Given the description of an element on the screen output the (x, y) to click on. 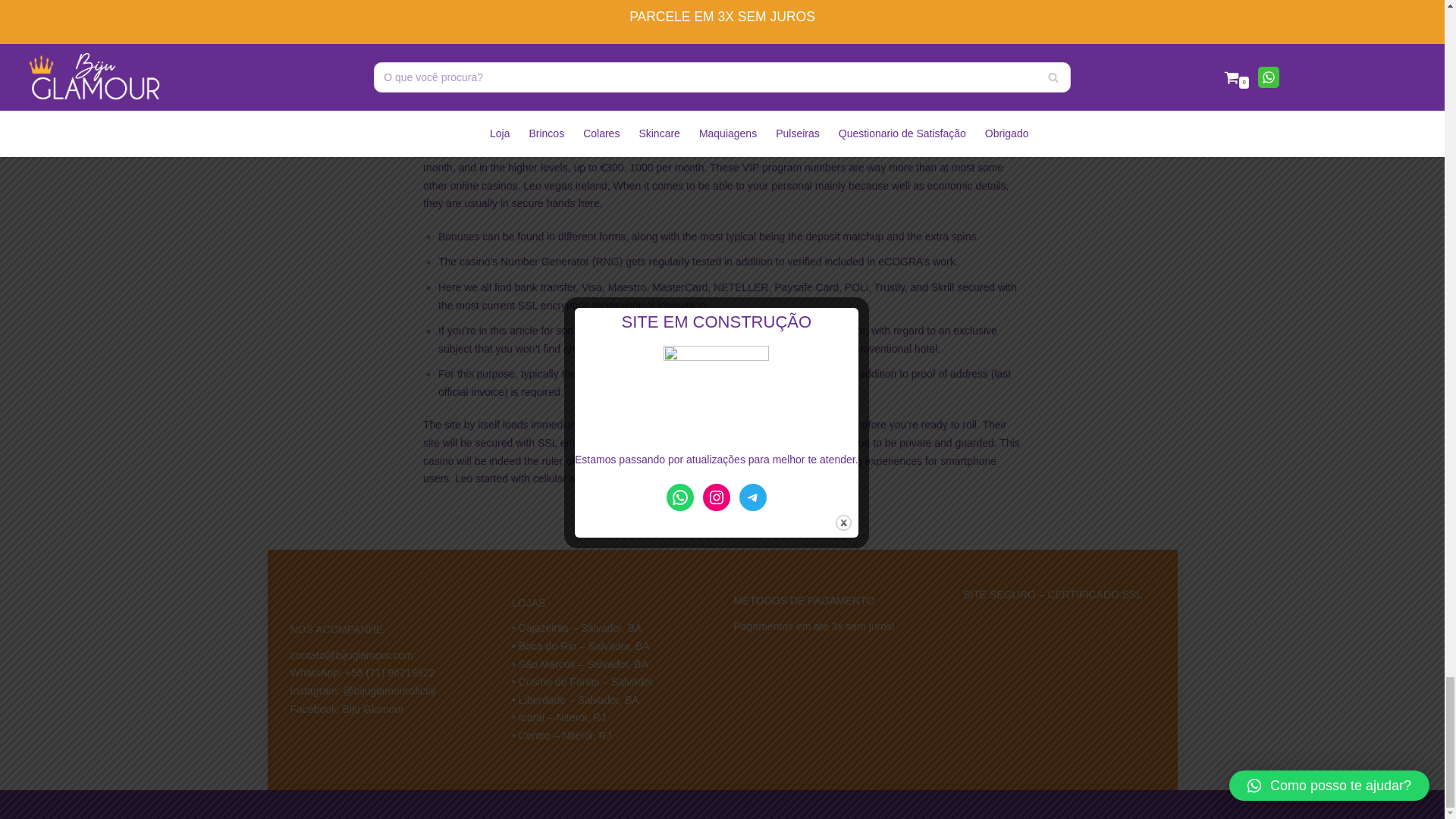
Site Seguro - Certificado SSL (1054, 648)
